Given the description of an element on the screen output the (x, y) to click on. 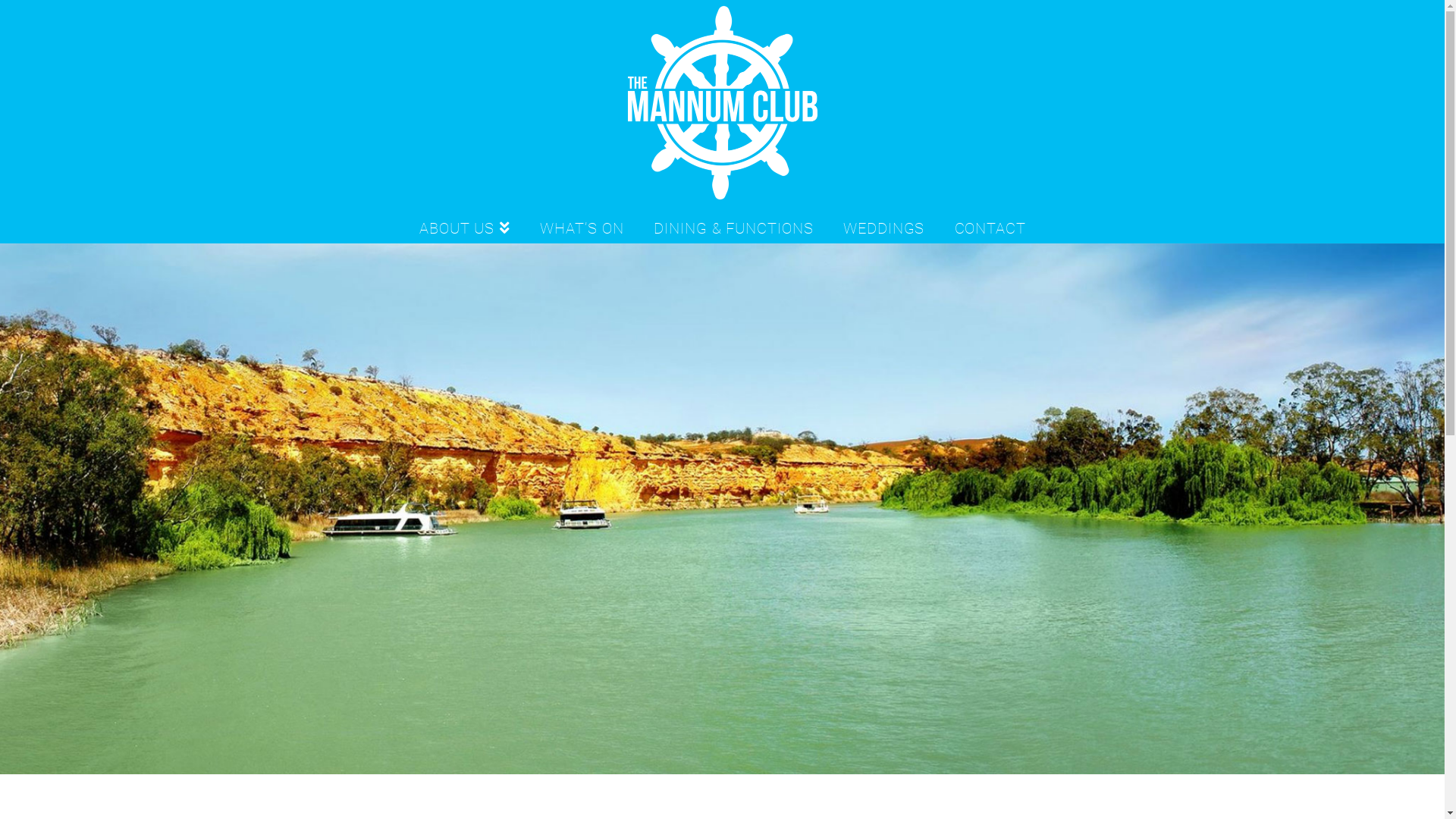
DINING & FUNCTIONS Element type: text (733, 224)
CONTACT Element type: text (989, 224)
WEDDINGS Element type: text (883, 224)
ABOUT US Element type: text (464, 224)
